Given the description of an element on the screen output the (x, y) to click on. 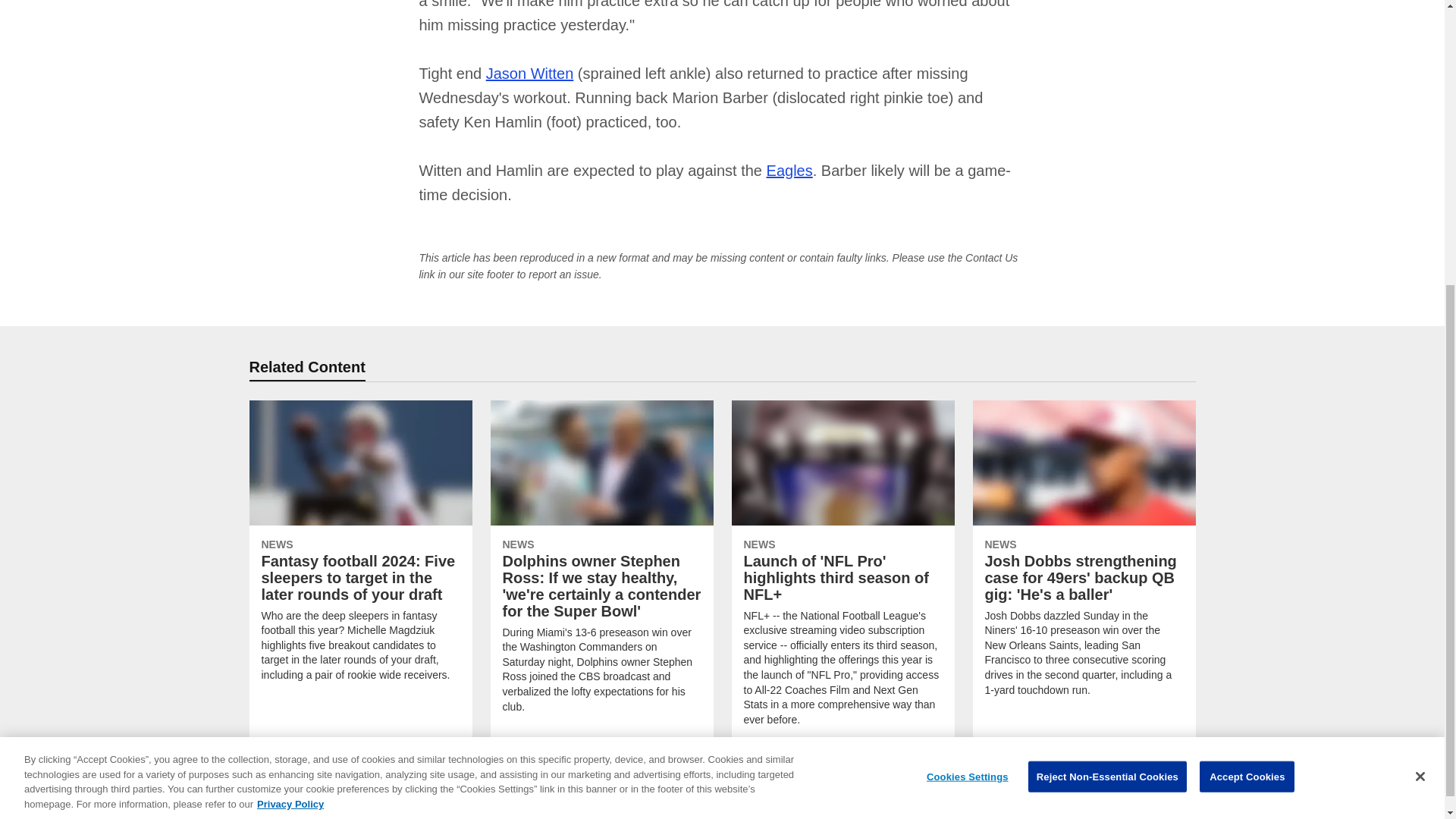
Accept Cookies (1246, 351)
Privacy Policy (290, 383)
Jason Witten (529, 73)
Eagles (789, 170)
Cookies Settings (967, 354)
Reject Non-Essential Cookies (1106, 353)
